Given the description of an element on the screen output the (x, y) to click on. 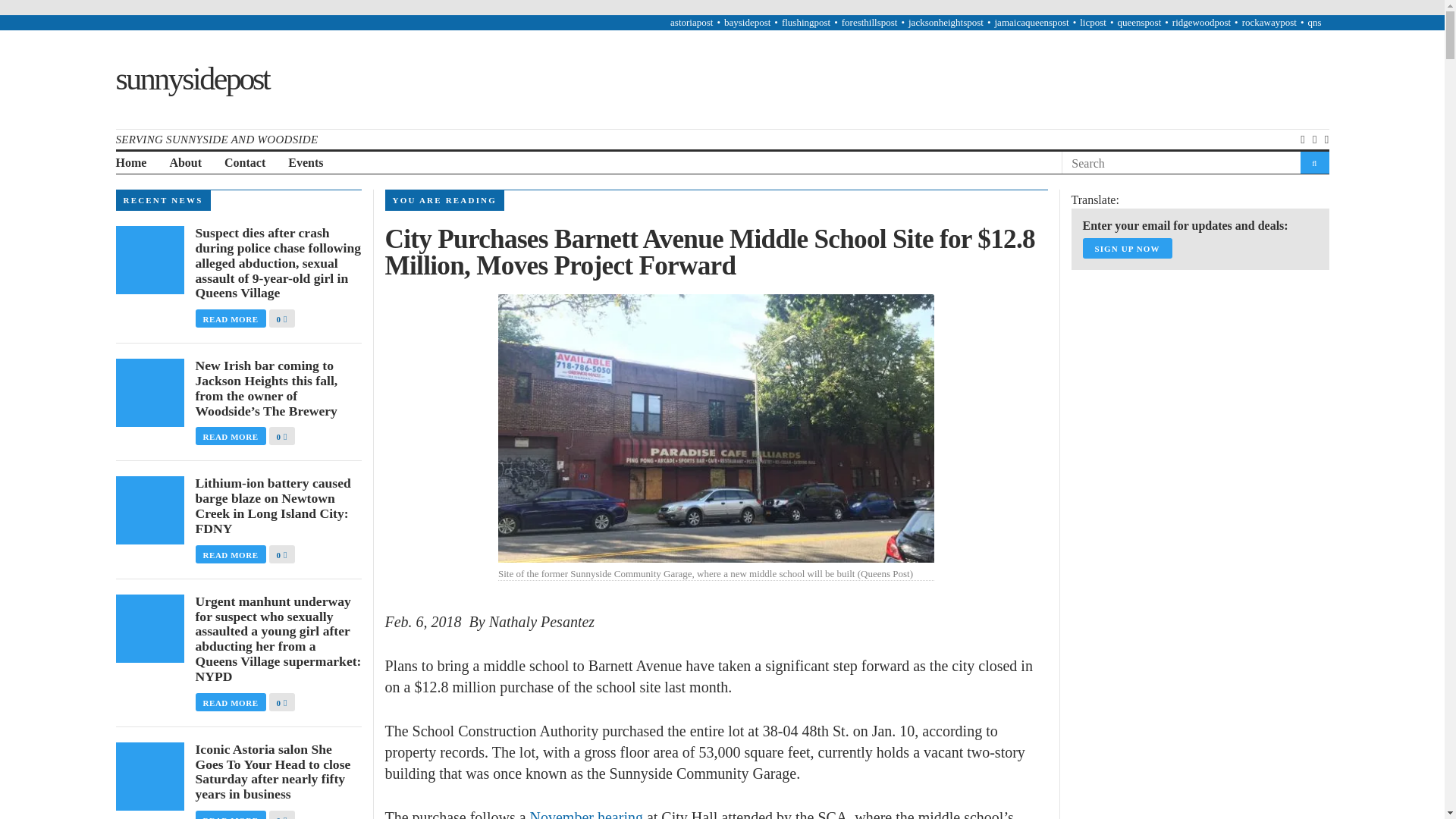
astoriapost (691, 21)
About (185, 163)
November hearing (586, 814)
baysidepost (746, 21)
Home (131, 163)
jamaicaqueenspost (1031, 21)
rockawaypost (1269, 21)
Contact (244, 163)
licpost (1093, 21)
foresthillspost (869, 21)
